Given the description of an element on the screen output the (x, y) to click on. 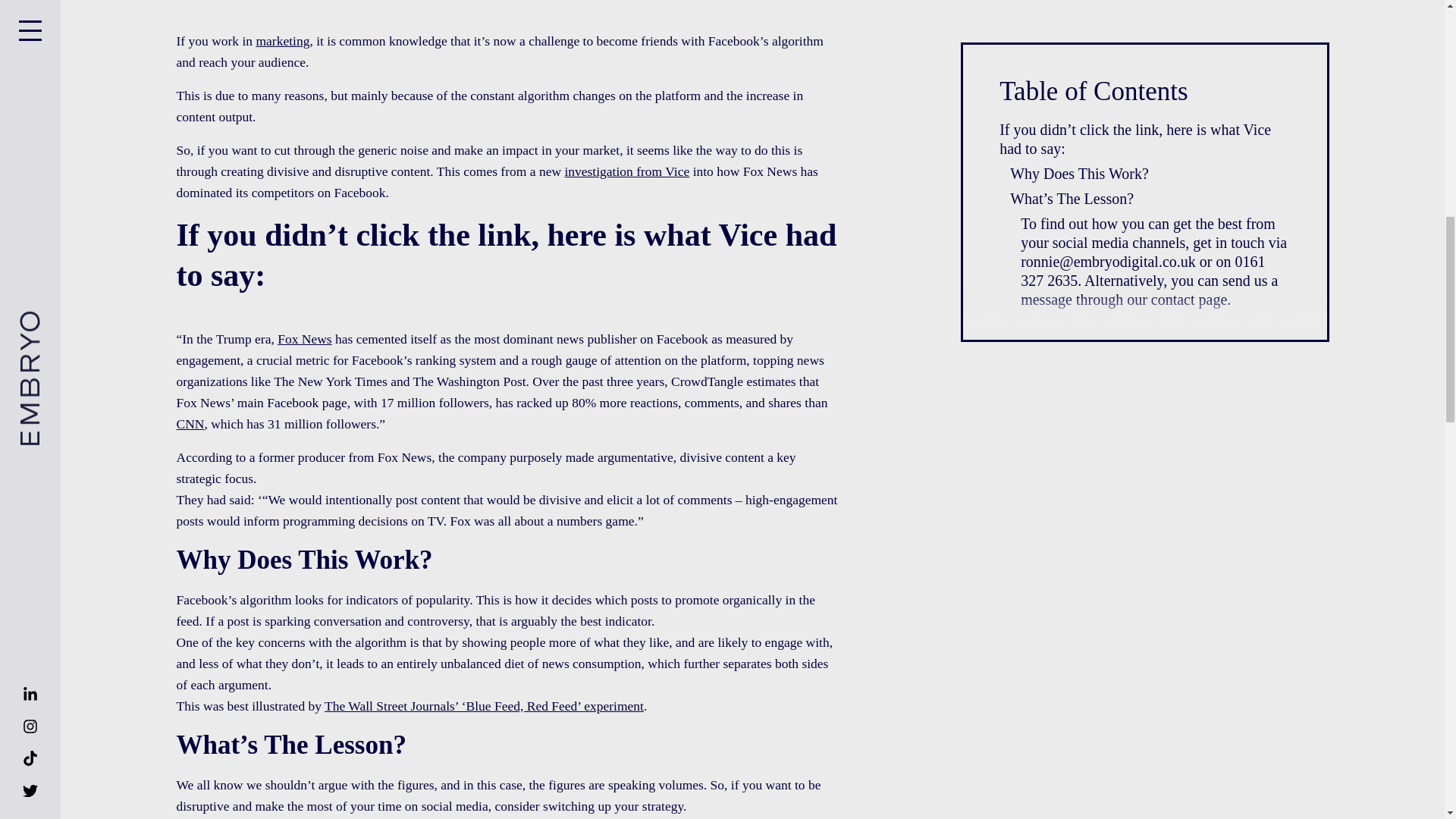
Vice (750, 234)
investigation from Vice (626, 171)
Fox News (304, 338)
marketing (282, 40)
Table of Contents (1144, 97)
CNN (189, 423)
Why Does This Work? (1079, 173)
